Given the description of an element on the screen output the (x, y) to click on. 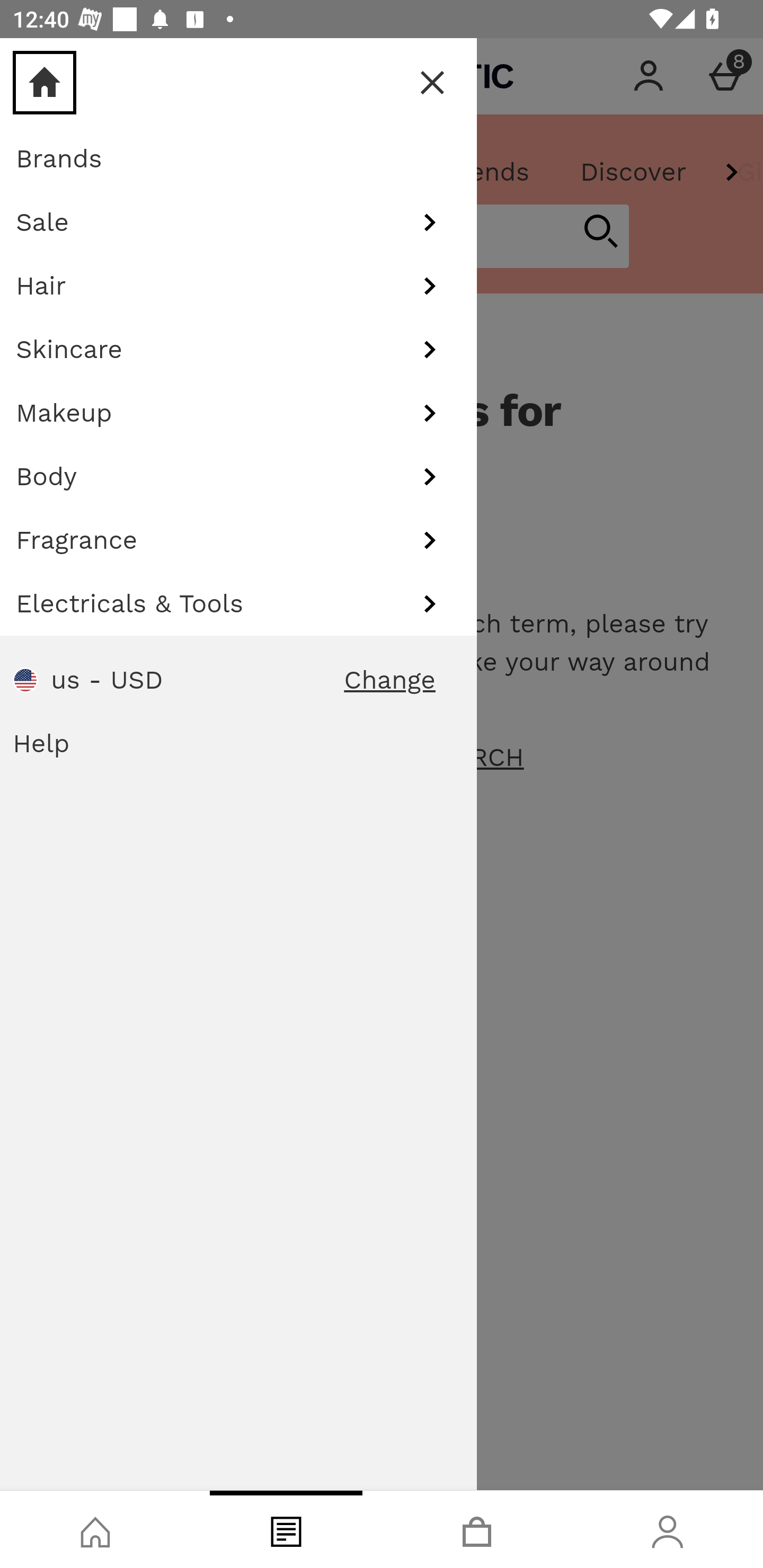
Open Menu (38, 75)
Latest (65, 172)
Shop, tab, 1 of 4 (95, 1529)
Blog, tab, 2 of 4 (285, 1529)
Basket, tab, 3 of 4 (476, 1529)
Account, tab, 4 of 4 (667, 1529)
